Given the description of an element on the screen output the (x, y) to click on. 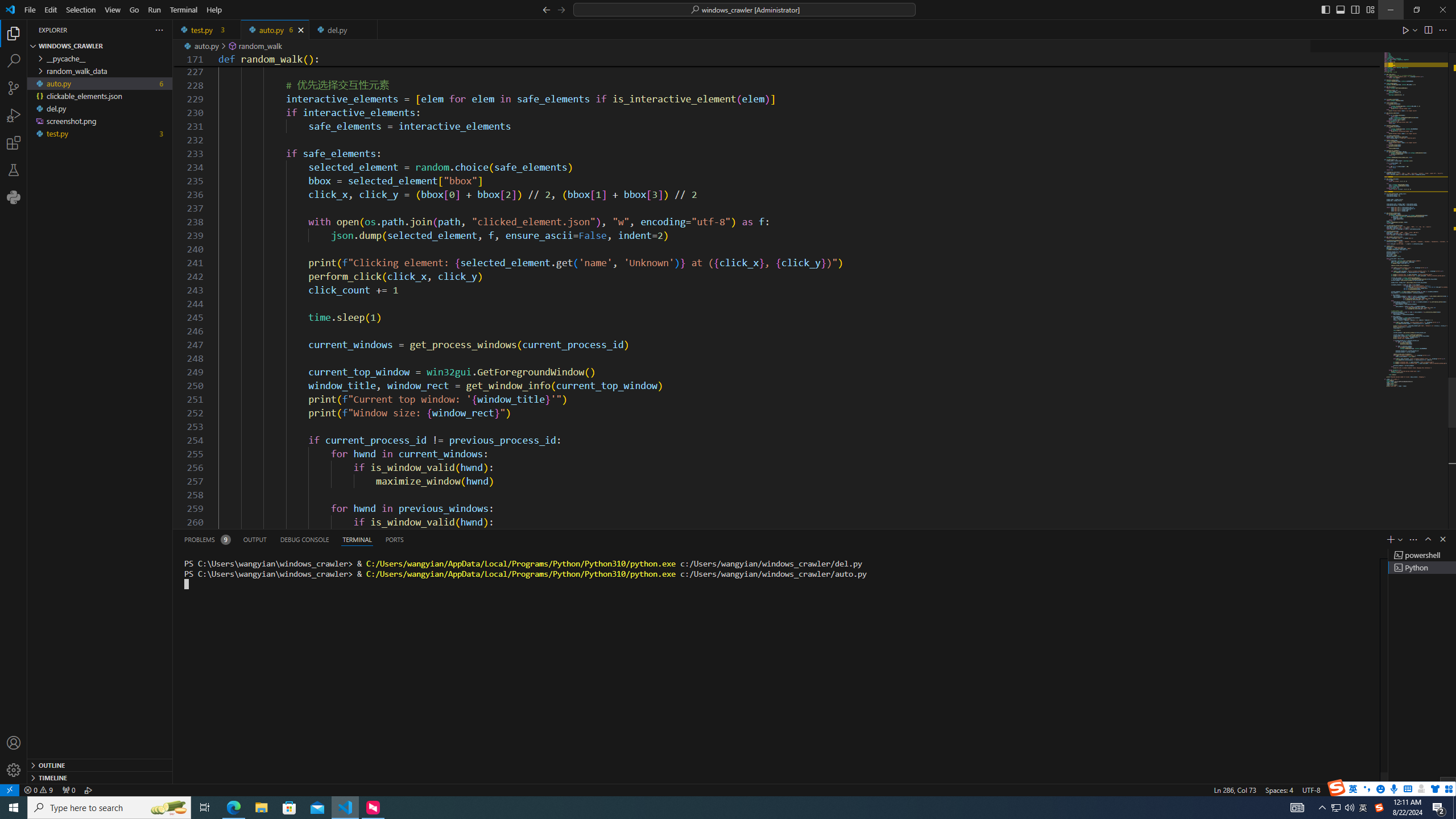
Terminal 1 powershell (1422, 554)
Launch Profile... (1400, 539)
Ln 286, Col 73 (1235, 789)
Outline Section (99, 764)
Run (153, 9)
CRLF (1336, 789)
Hide Panel (1442, 539)
Explorer actions (118, 29)
Python (1373, 789)
Go Back (Alt+LeftArrow) (546, 9)
Run and Debug (Ctrl+Shift+D) (13, 115)
